Given the description of an element on the screen output the (x, y) to click on. 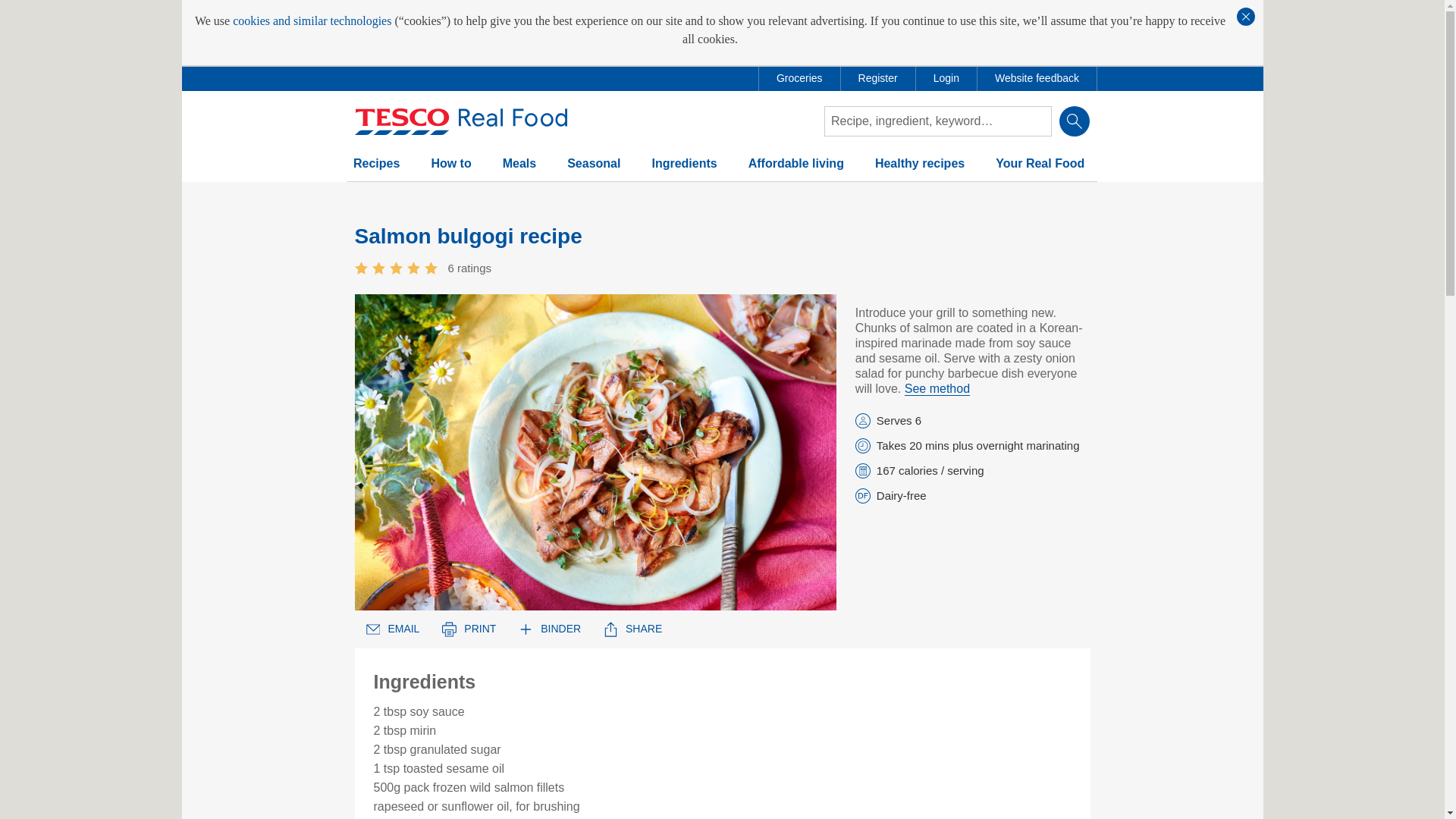
Search (1074, 121)
Recipes (376, 169)
Login (945, 78)
Groceries (799, 78)
cookies and similar technologies (311, 20)
Register (878, 78)
Website feedback (1036, 78)
Search (1074, 121)
Close cookie policy banner (1245, 16)
